Given the description of an element on the screen output the (x, y) to click on. 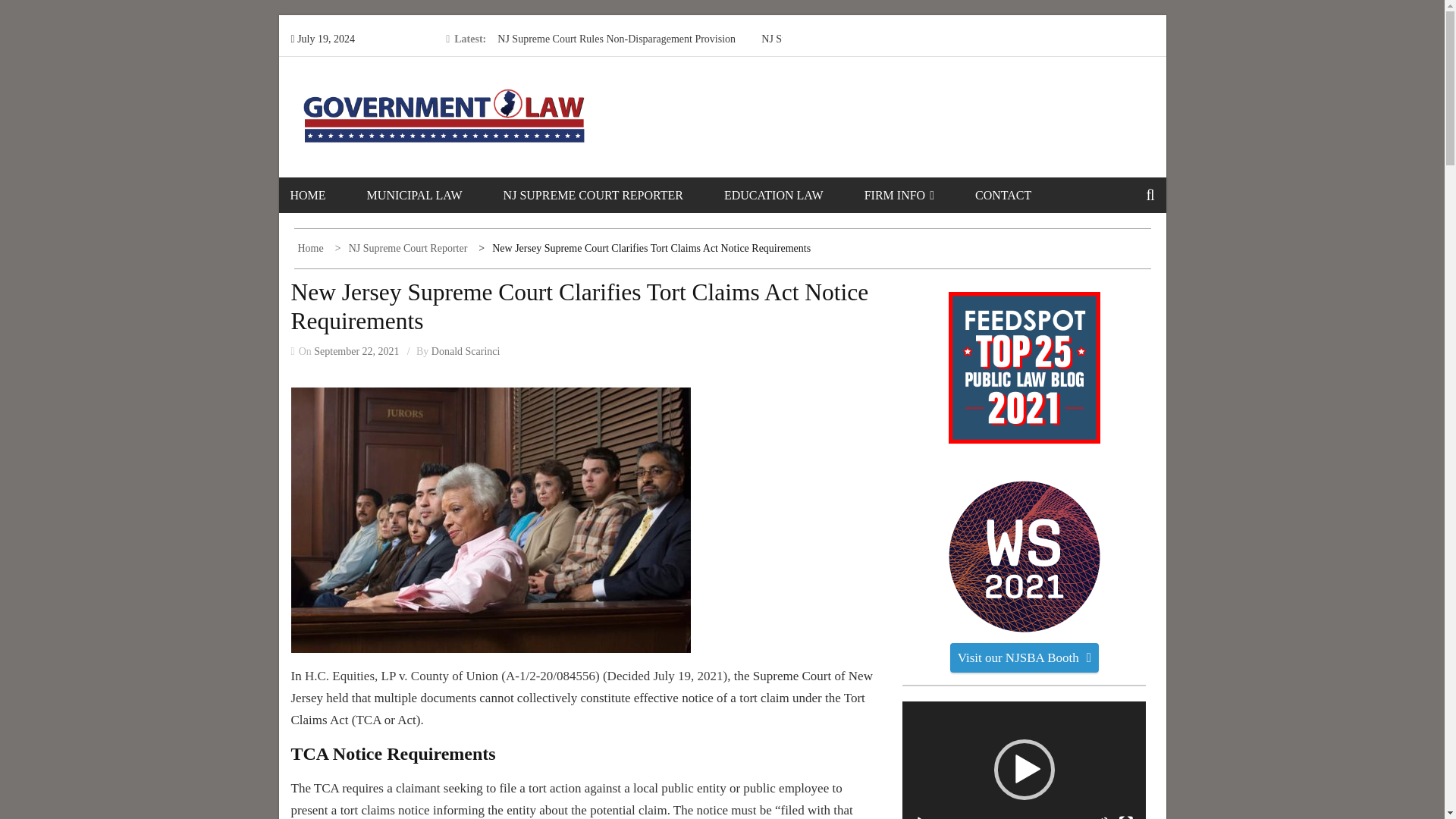
FIRM INFO (918, 194)
EDUCATION LAW (792, 194)
Fullscreen (1126, 817)
CONTACT (1021, 194)
MUNICIPAL LAW (433, 194)
HOME (325, 194)
NJ Supreme Court Reporter (402, 247)
Mute (1101, 817)
Play (922, 817)
Donald Scarinci (465, 351)
Home (311, 247)
September 22, 2021 (356, 351)
NJ SUPREME COURT REPORTER (611, 194)
